Given the description of an element on the screen output the (x, y) to click on. 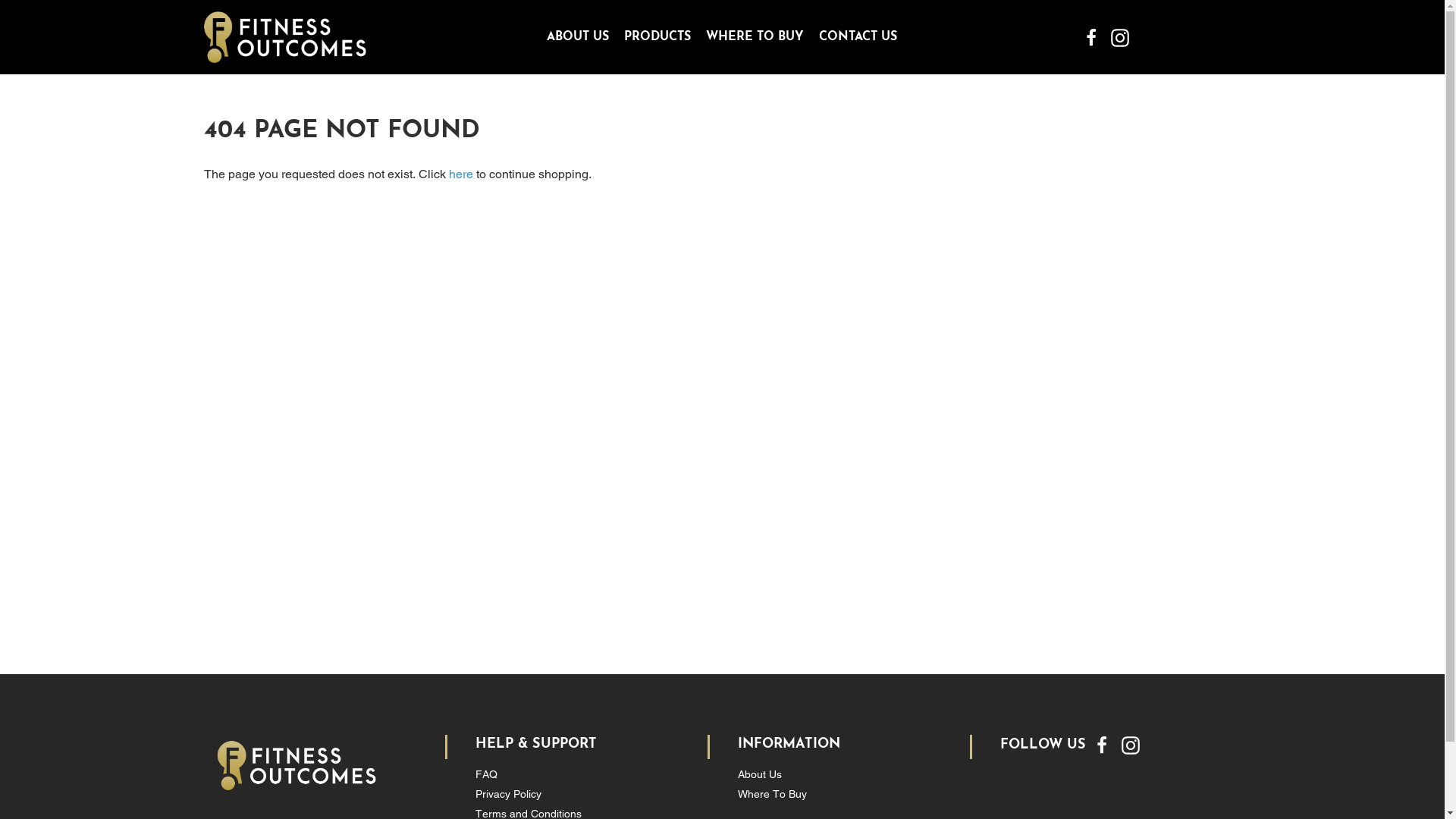
Privacy Policy Element type: text (507, 793)
WHERE TO BUY Element type: text (754, 37)
Fitness Outcomes  on Instagram Element type: hover (1119, 36)
here Element type: text (460, 173)
ABOUT US Element type: text (577, 37)
Fitness Outcomes  on Facebook Element type: hover (1101, 744)
PRODUCTS Element type: text (657, 37)
CONTACT US Element type: text (858, 37)
FAQ Element type: text (485, 774)
Fitness Outcomes  on Instagram Element type: hover (1129, 744)
Fitness Outcomes  on Facebook Element type: hover (1091, 36)
Where To Buy Element type: text (771, 793)
About Us Element type: text (759, 774)
